Given the description of an element on the screen output the (x, y) to click on. 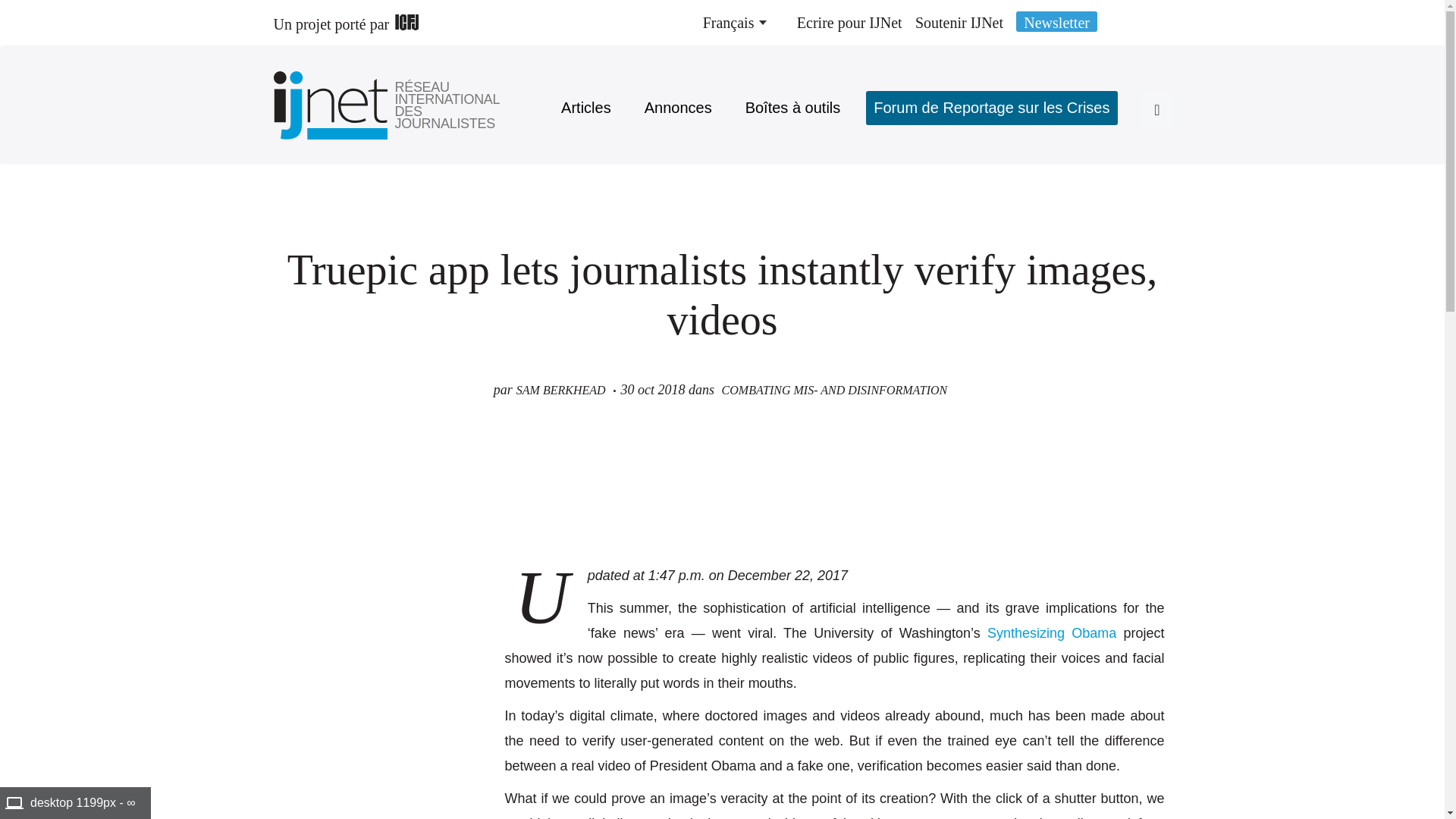
Facebook (288, 585)
Twitter (288, 644)
Subscribe to the newsletter modal (1056, 20)
Ecrire pour IJNet (849, 22)
Soutenir IJNet (959, 22)
Home (333, 105)
Linkedin (288, 614)
Newsletter (1056, 20)
Annonces (678, 107)
Articles (585, 107)
Forum de Reportage sur les Crises (991, 107)
Whatsapp (288, 673)
Home (448, 105)
Toggle Dropdown (734, 22)
